Given the description of an element on the screen output the (x, y) to click on. 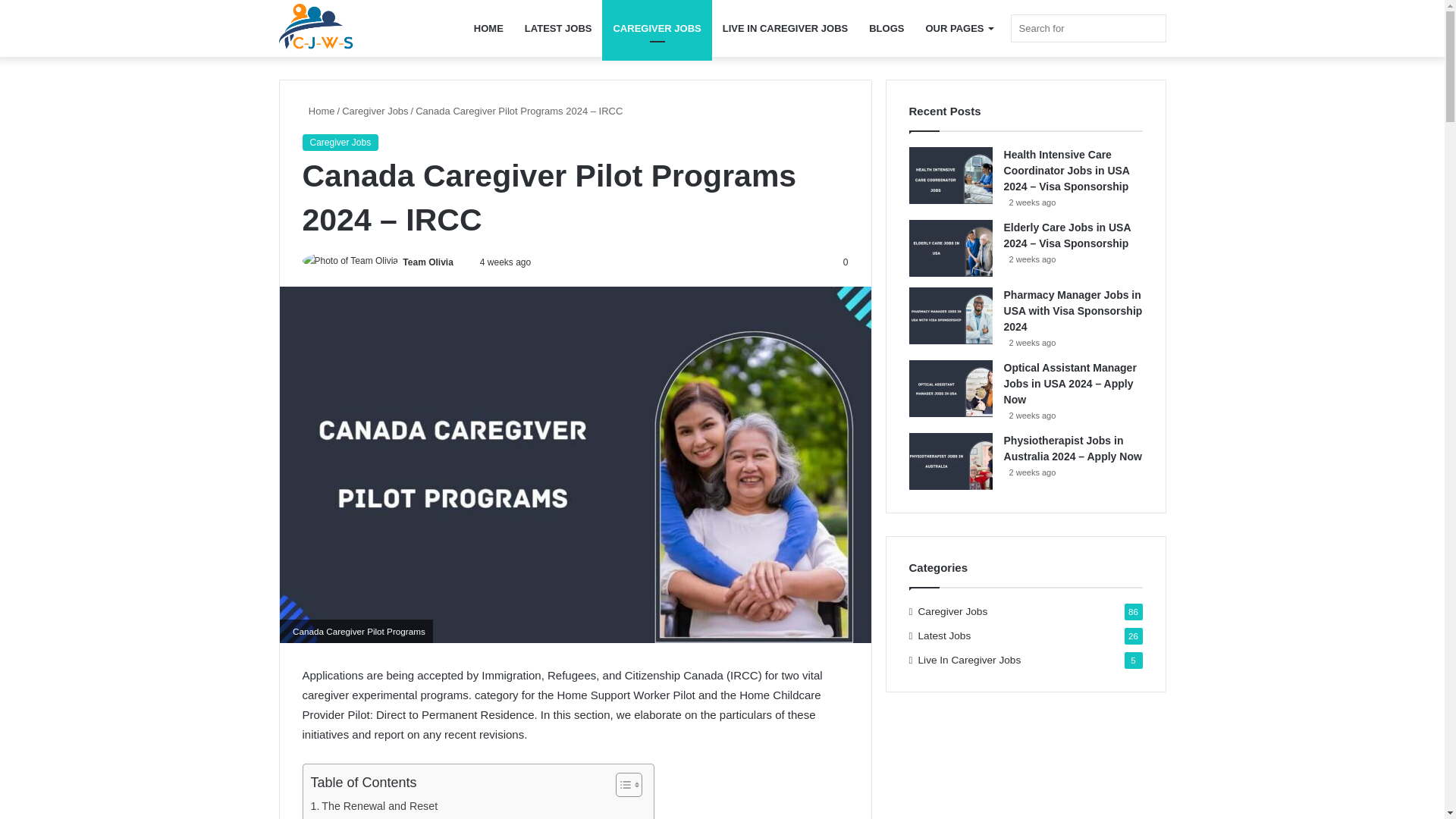
Caregiver Jobs (374, 111)
OUR PAGES (958, 28)
Time Is of the Essence (385, 816)
Search for (1088, 28)
Team Olivia (427, 262)
BLOGS (886, 28)
Home (317, 111)
Time Is of the Essence (385, 816)
LIVE IN CAREGIVER JOBS (785, 28)
LATEST JOBS (557, 28)
